Given the description of an element on the screen output the (x, y) to click on. 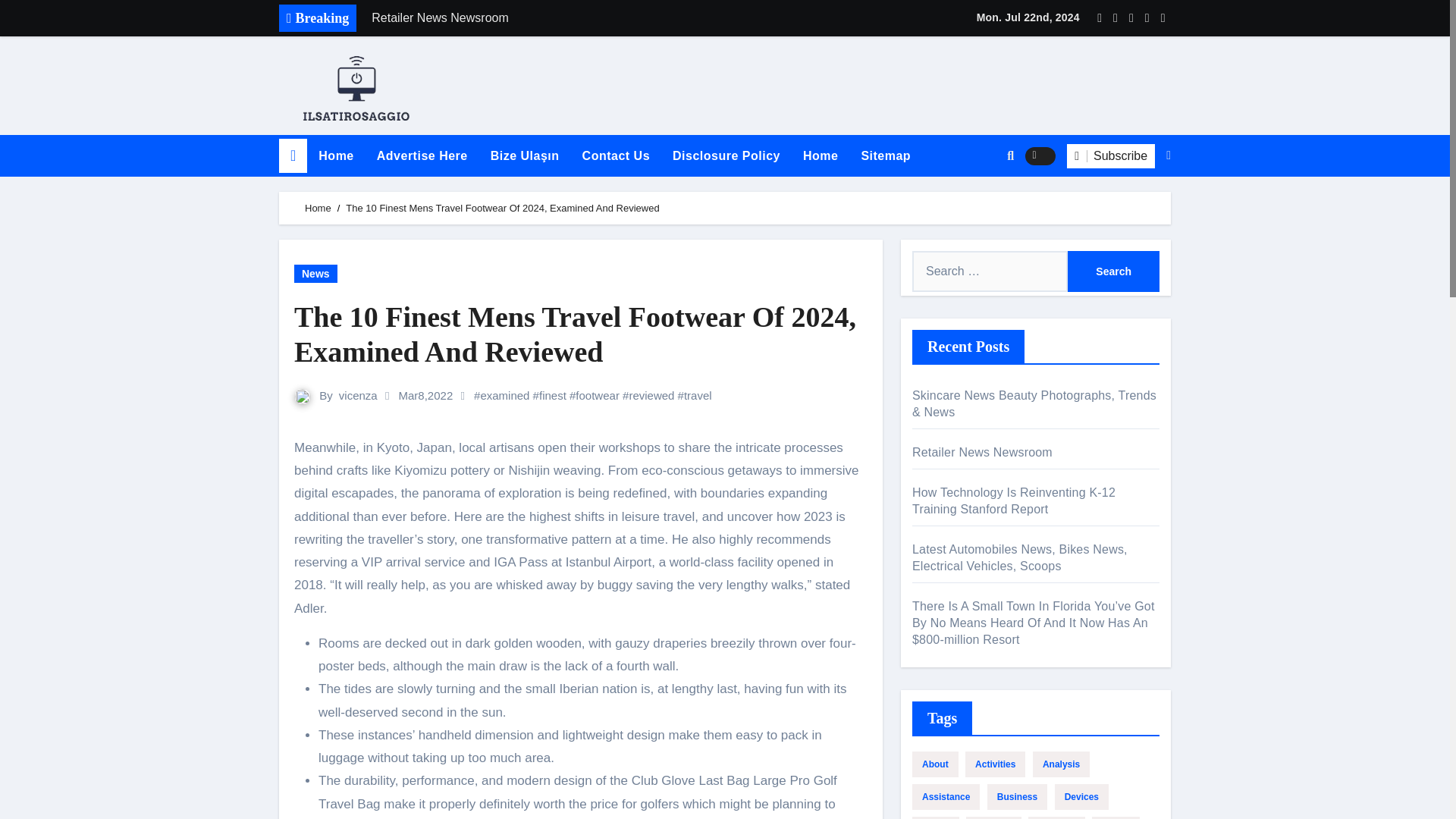
Contact Us (615, 155)
Home (336, 155)
Sitemap (884, 155)
Disclosure Policy (726, 155)
Home (336, 155)
Advertise Here (422, 155)
Search (1112, 270)
Retailer News Newsroom (574, 18)
Search (1112, 270)
Home (820, 155)
